Given the description of an element on the screen output the (x, y) to click on. 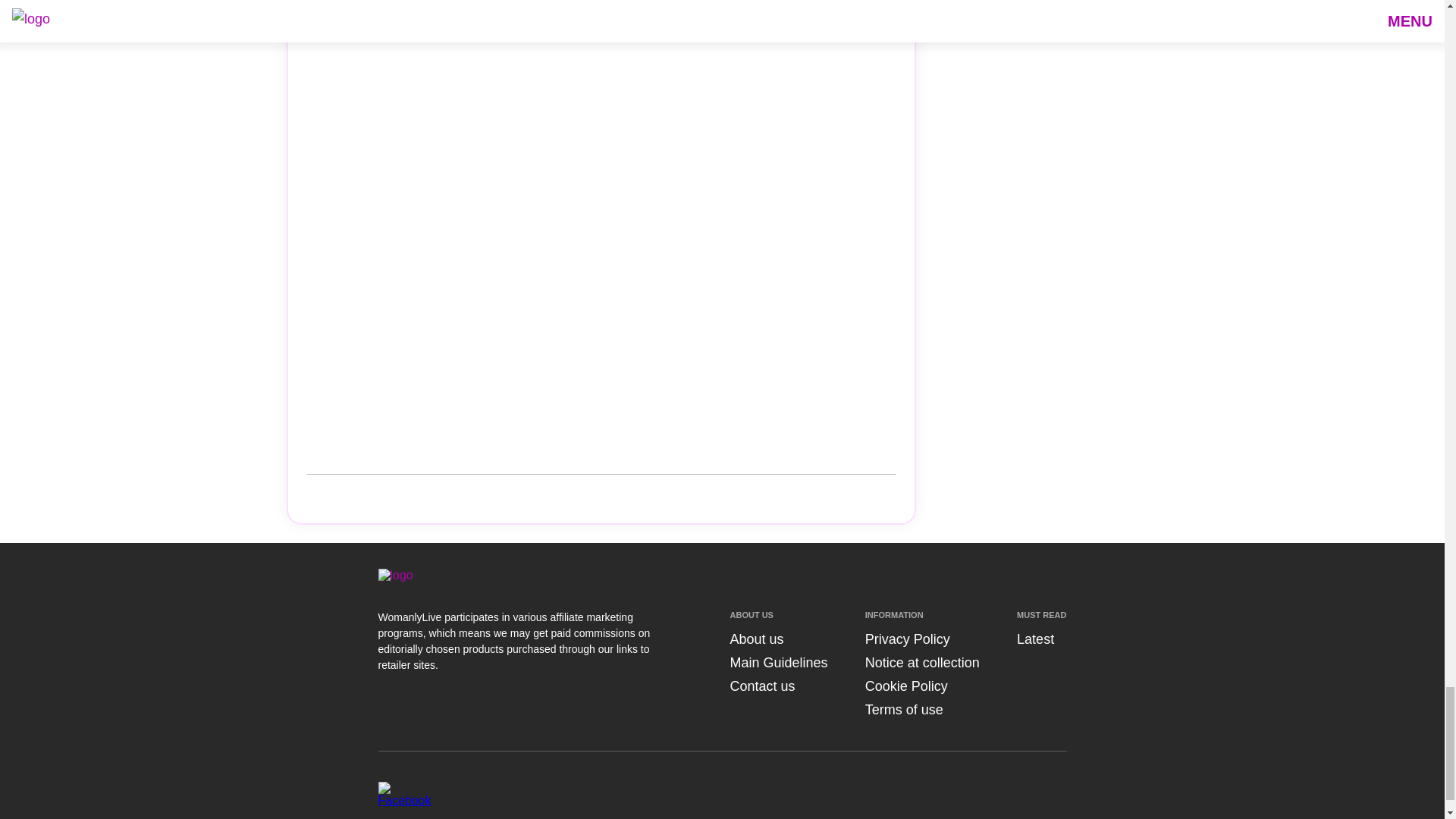
Cookie Policy (905, 685)
Notice at collection (921, 662)
Contact us (761, 685)
Privacy Policy (907, 639)
About us (756, 639)
Main Guidelines (778, 662)
